Given the description of an element on the screen output the (x, y) to click on. 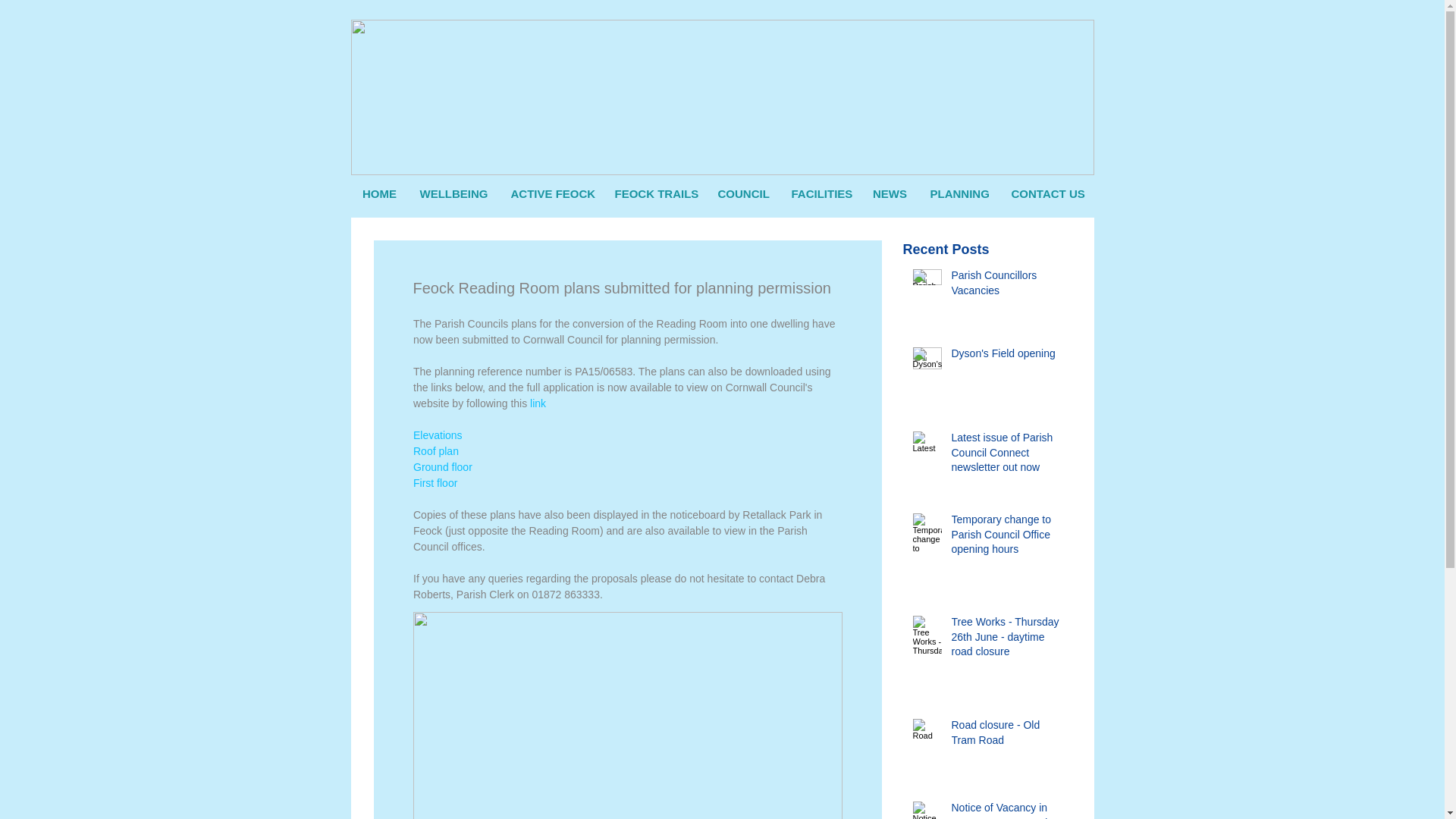
CONTACT US (1045, 194)
COUNCIL (743, 194)
link (537, 403)
NEWS (889, 194)
ACTIVE FEOCK (550, 194)
FEOCK TRAILS (655, 194)
PLANNING (959, 194)
HOME (378, 194)
FACILITIES (819, 194)
WELLBEING (453, 194)
